Given the description of an element on the screen output the (x, y) to click on. 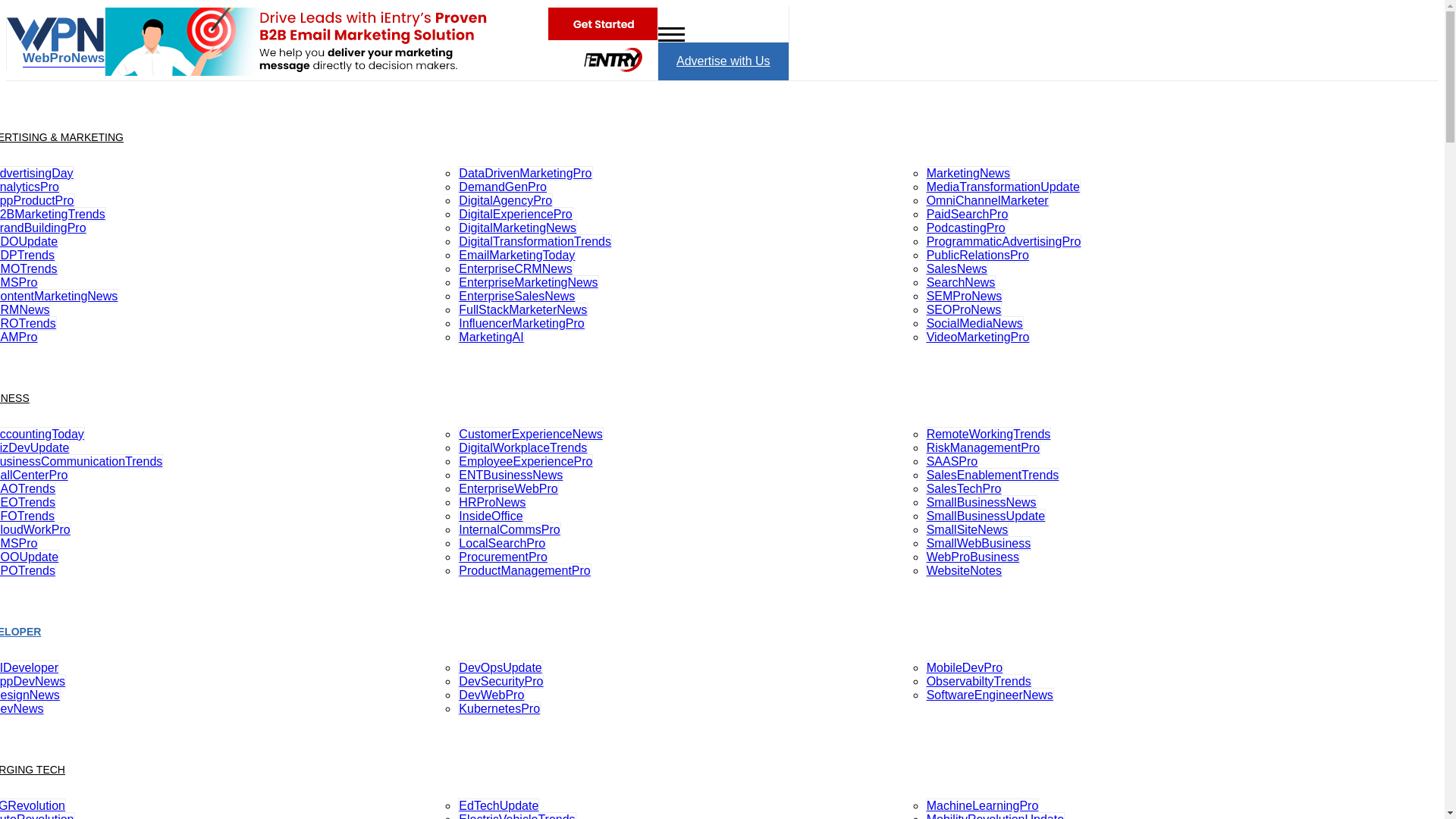
MarketingAI (491, 336)
EnterpriseSalesNews (516, 296)
EmailMarketingToday (516, 255)
CMSPro (18, 282)
CDOUpdate (29, 241)
ProgrammaticAdvertisingPro (1003, 241)
DataDrivenMarketingPro (525, 173)
DigitalAgencyPro (505, 200)
AppProductPro (37, 200)
DAMPro (18, 336)
BrandBuildingPro (43, 227)
CMOTrends (29, 268)
SalesNews (957, 268)
MediaTransformationUpdate (1003, 186)
B2BMarketingTrends (53, 214)
